Given the description of an element on the screen output the (x, y) to click on. 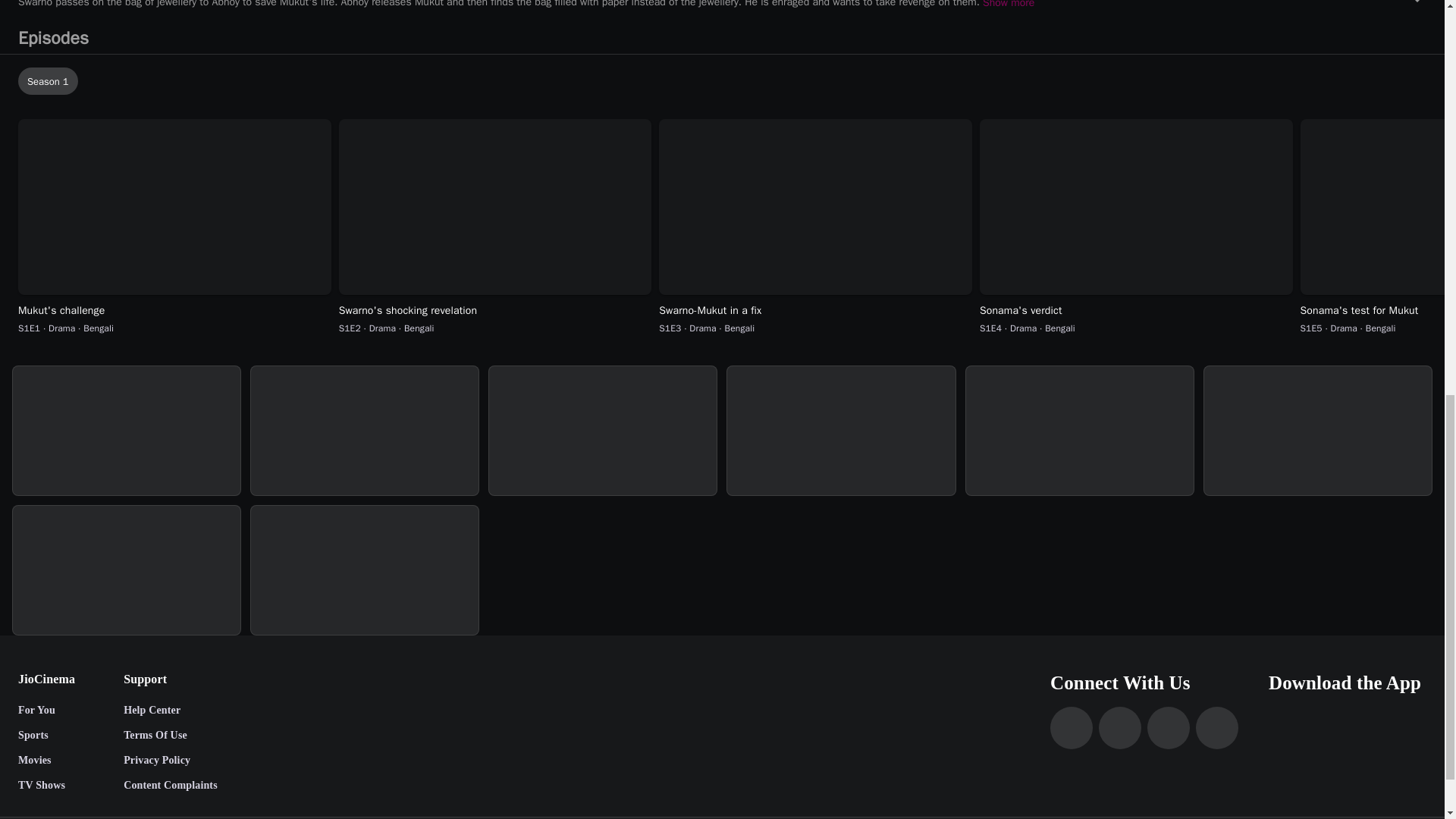
Season 1 (724, 80)
Swarno's shocking revelation (495, 310)
Season 1 (724, 81)
Sonama's verdict (1135, 310)
Mukut's challenge (174, 310)
Season 1 (47, 81)
Swarno-Mukut in a fix (815, 310)
